Given the description of an element on the screen output the (x, y) to click on. 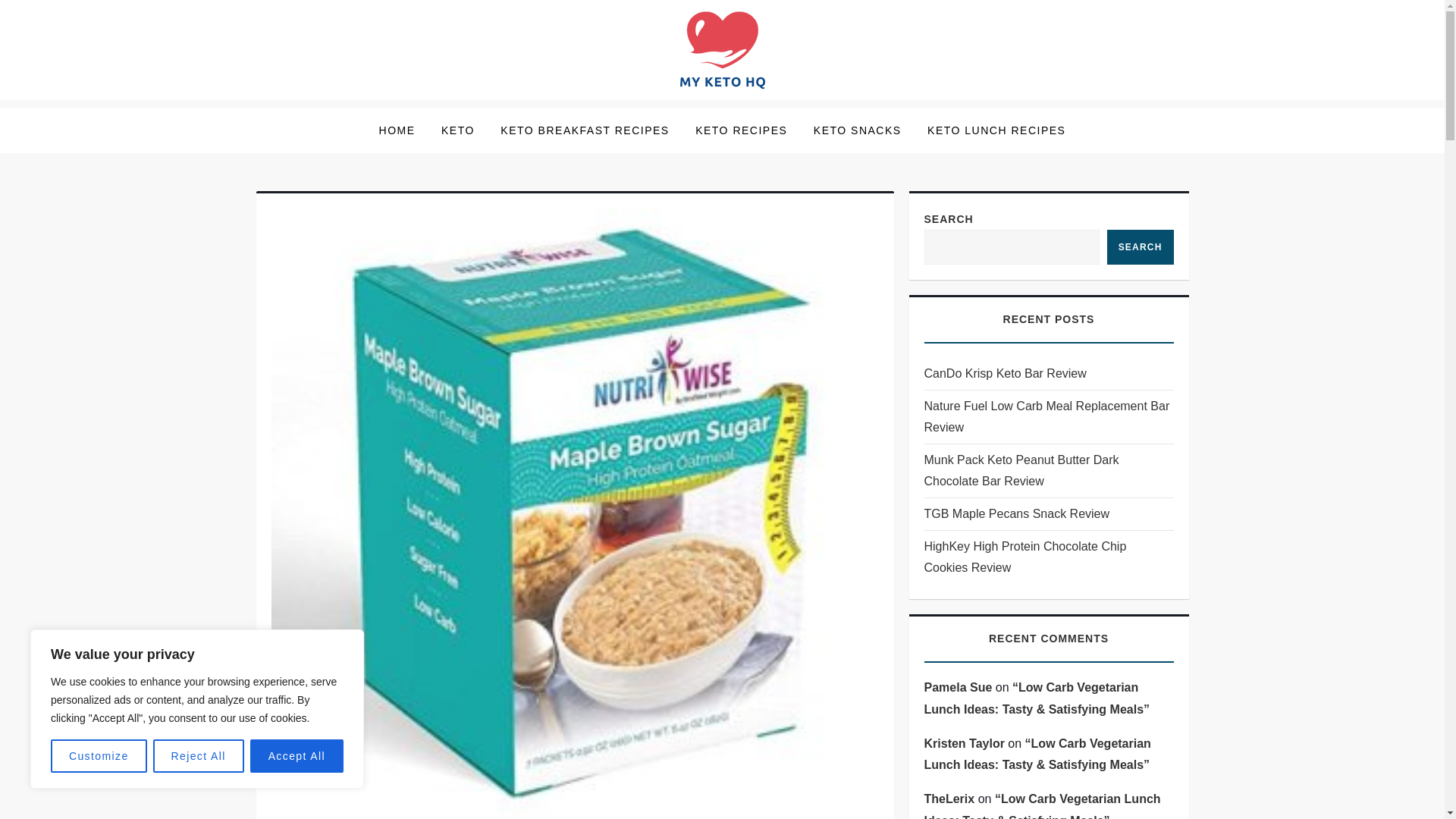
Customize (98, 756)
Accept All (296, 756)
Reject All (198, 756)
SEARCH (1139, 247)
KETO (457, 130)
HOME (397, 130)
KETO LUNCH RECIPES (996, 130)
KETO RECIPES (740, 130)
KETO BREAKFAST RECIPES (584, 130)
KETO SNACKS (857, 130)
